Given the description of an element on the screen output the (x, y) to click on. 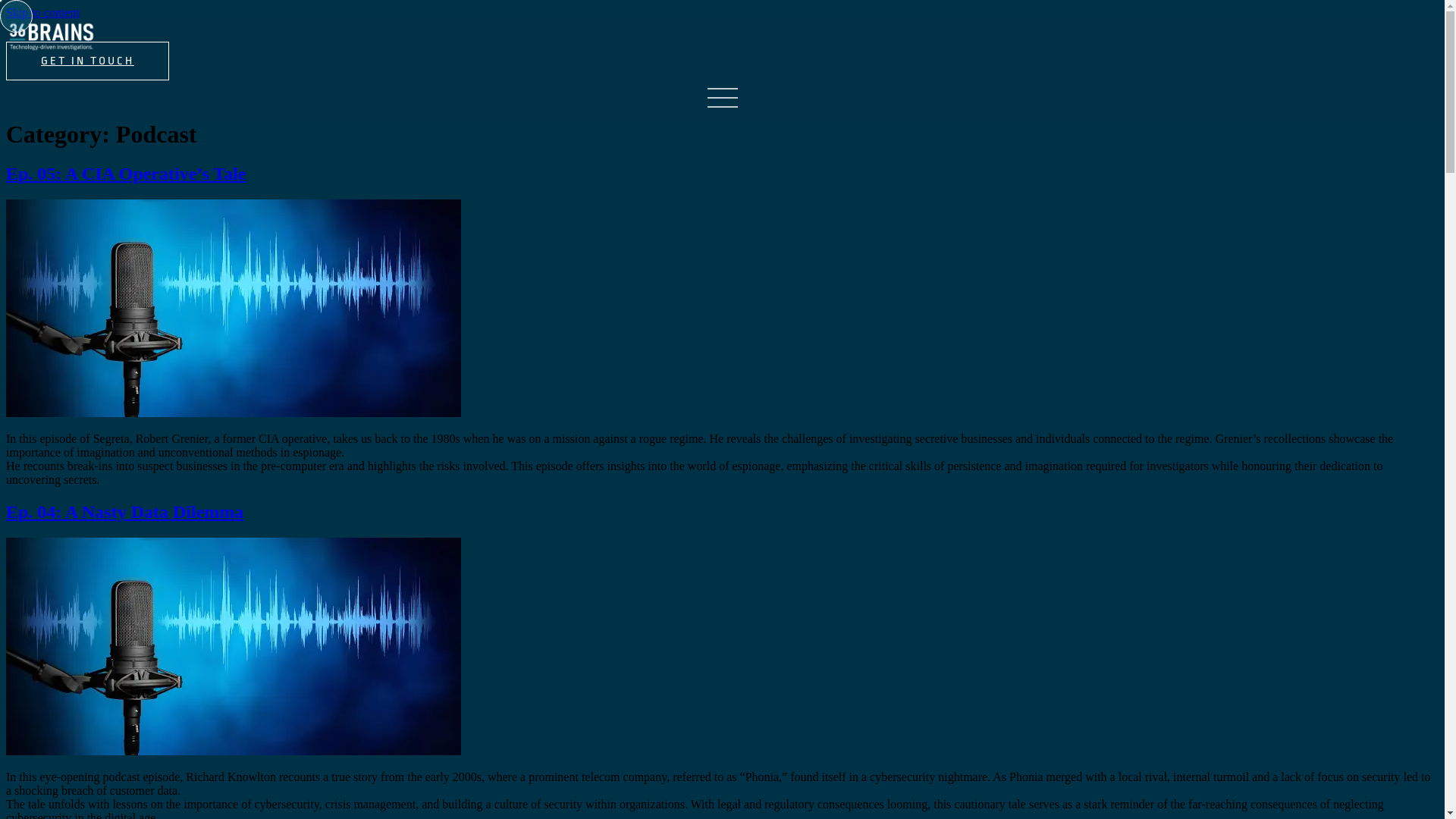
Ep. 04: A Nasty Data Dilemma Element type: text (124, 511)
Skip to content Element type: text (42, 12)
GET IN TOUCH Element type: text (87, 60)
